Given the description of an element on the screen output the (x, y) to click on. 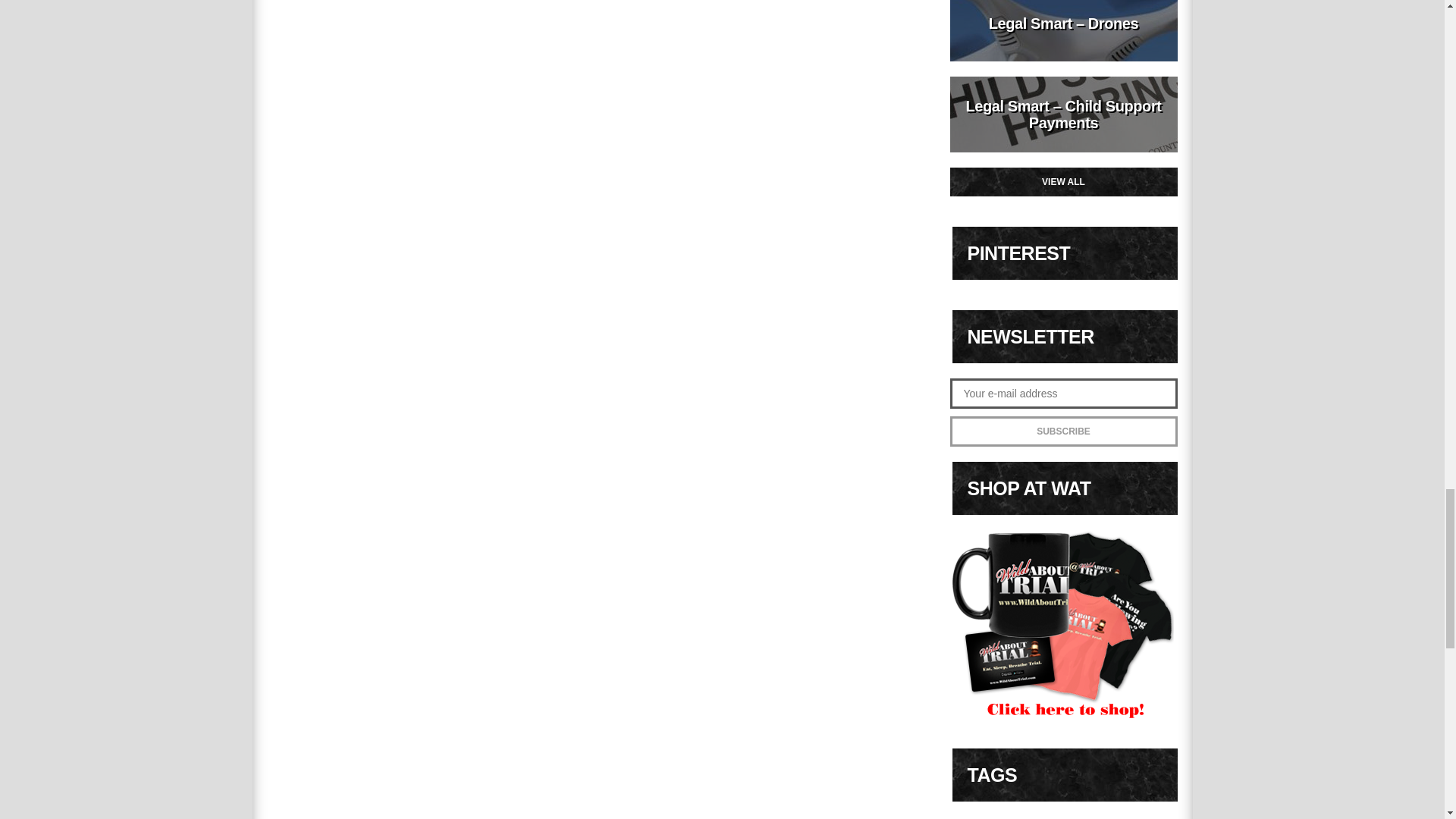
SUBSCRIBE (1062, 431)
